Given the description of an element on the screen output the (x, y) to click on. 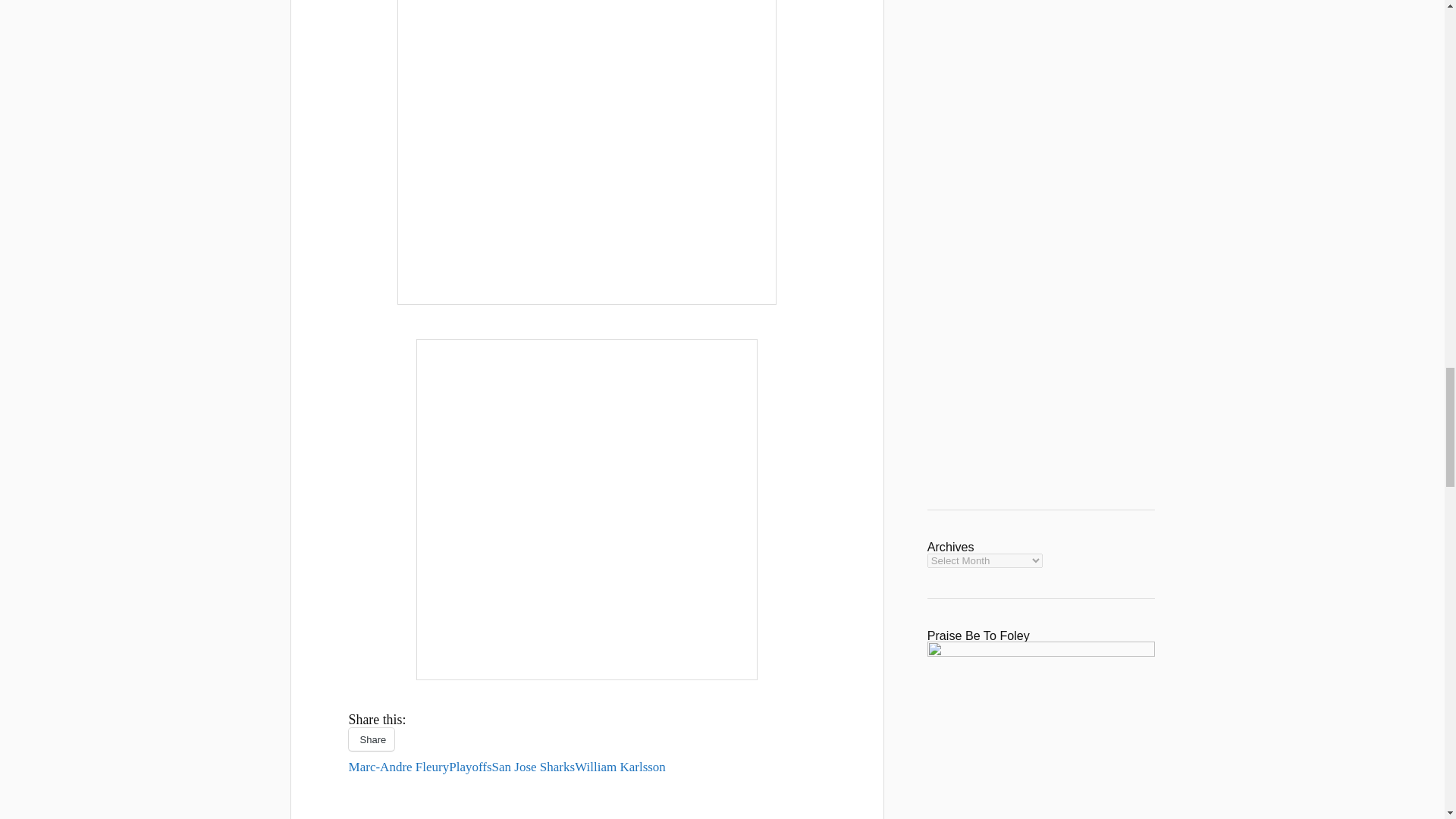
Marc-Andre Fleury (399, 766)
Share (371, 739)
Playoffs (470, 766)
San Jose Sharks (533, 766)
